Given the description of an element on the screen output the (x, y) to click on. 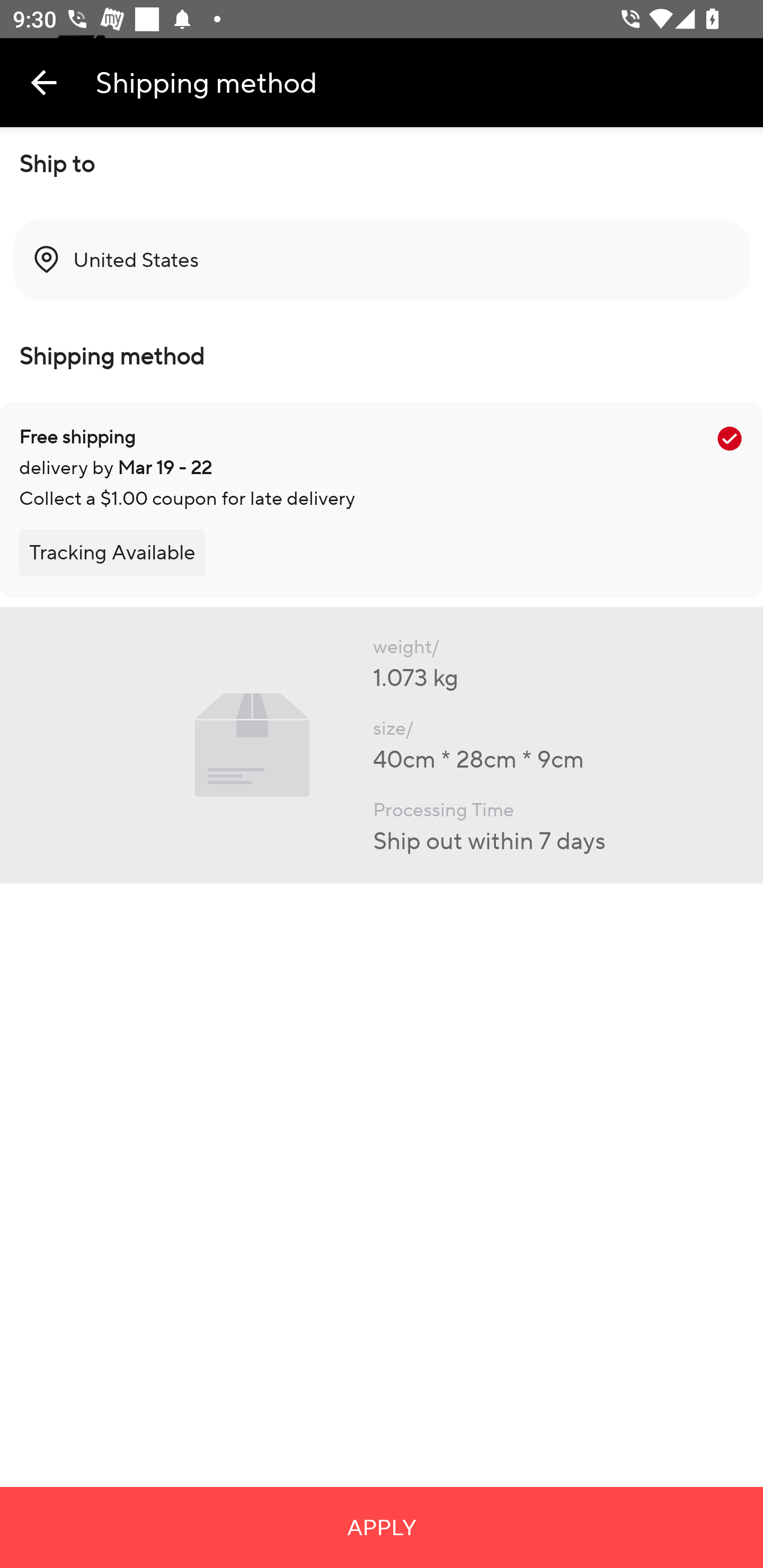
 United States (381, 260)
APPLY (381, 1527)
